Given the description of an element on the screen output the (x, y) to click on. 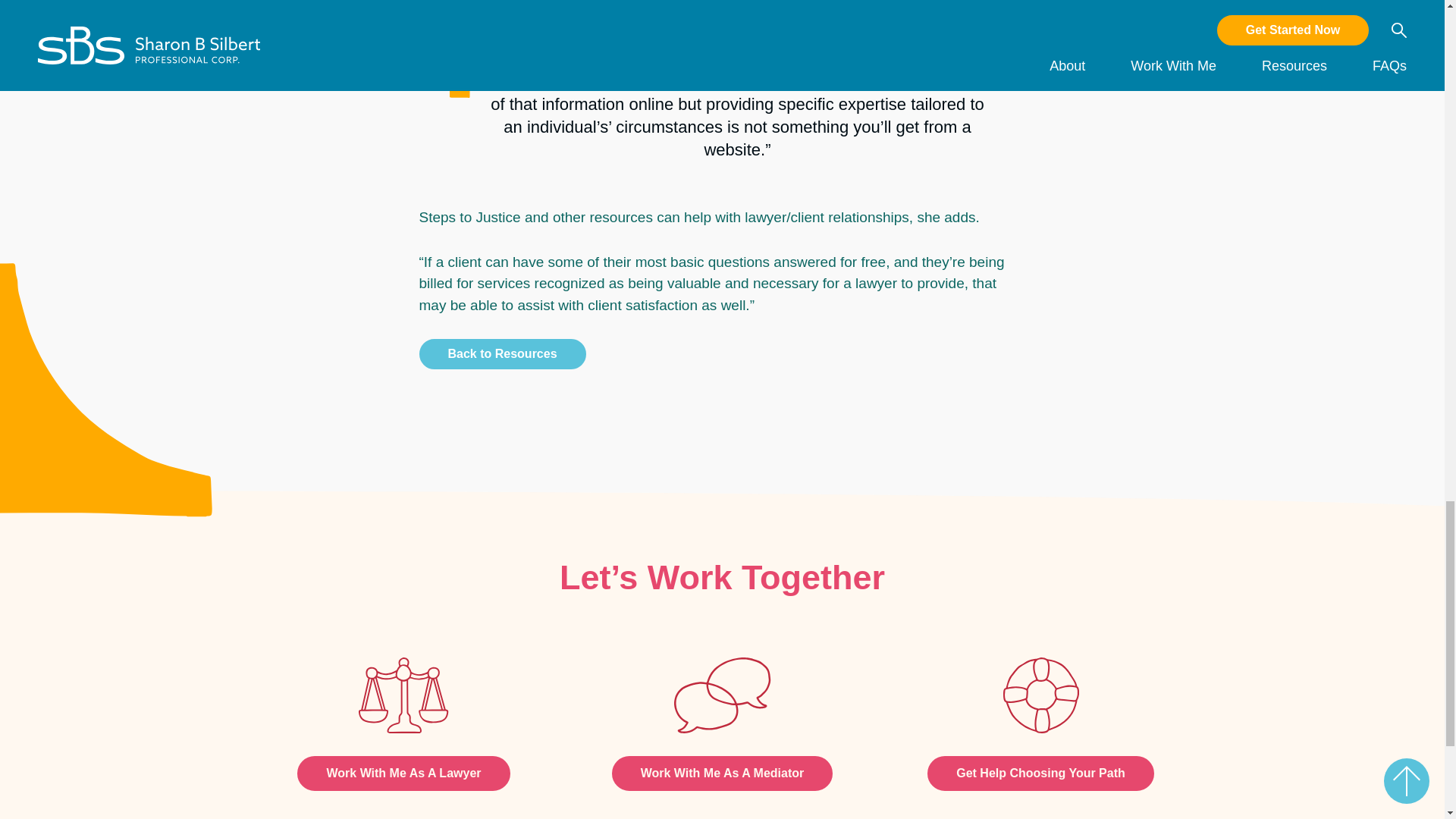
Back to Resources (502, 354)
Work With Me As A Lawyer (403, 773)
Work With Me As A Mediator (721, 773)
Get Help Choosing Your Path (1040, 773)
